Given the description of an element on the screen output the (x, y) to click on. 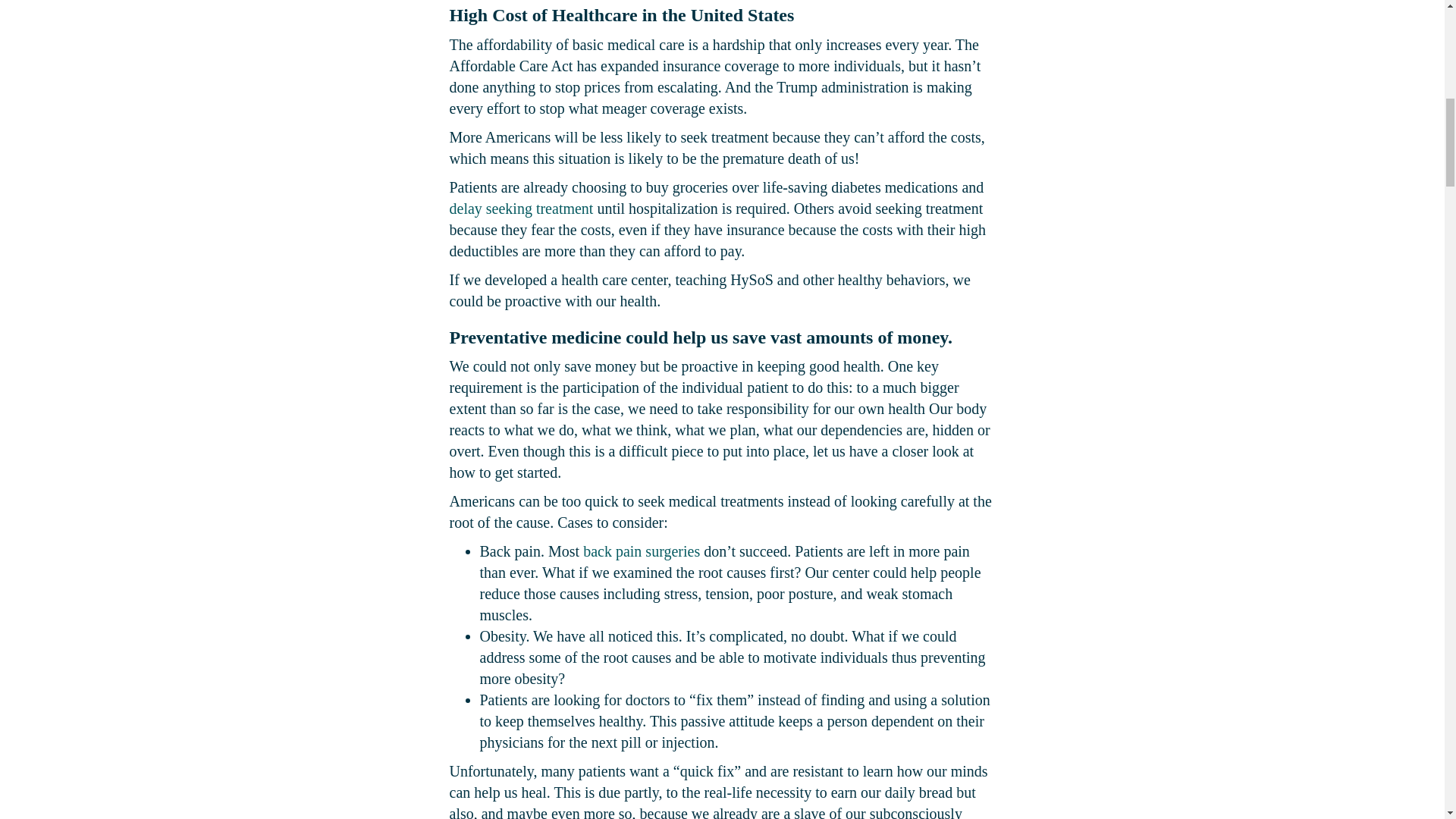
delay seeking treatment (520, 208)
back pain surgeries (641, 550)
